Given the description of an element on the screen output the (x, y) to click on. 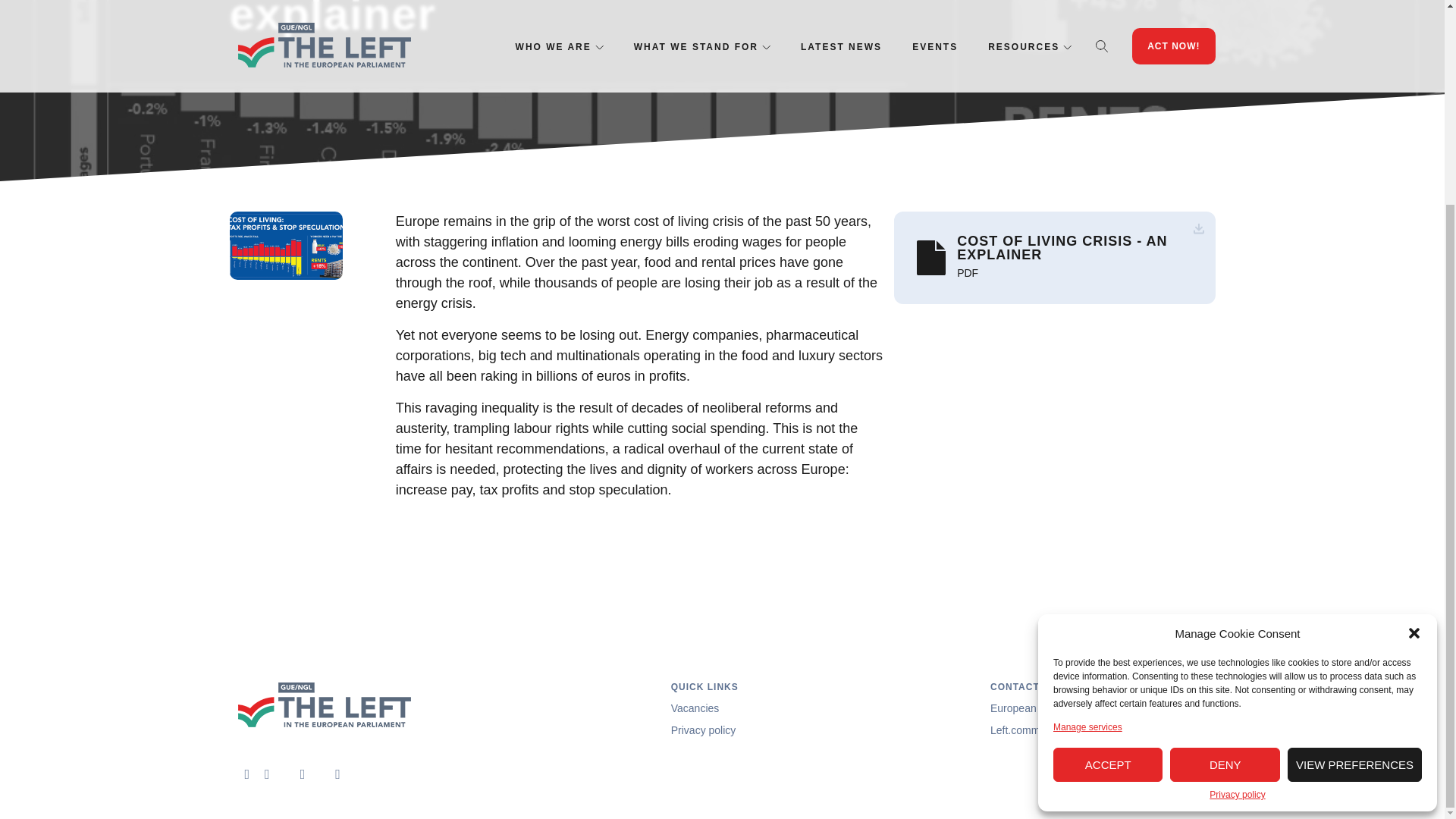
ACCEPT (1106, 501)
DENY (1224, 501)
Privacy policy (1237, 531)
Manage services (1087, 463)
VIEW PREFERENCES (1354, 501)
